Given the description of an element on the screen output the (x, y) to click on. 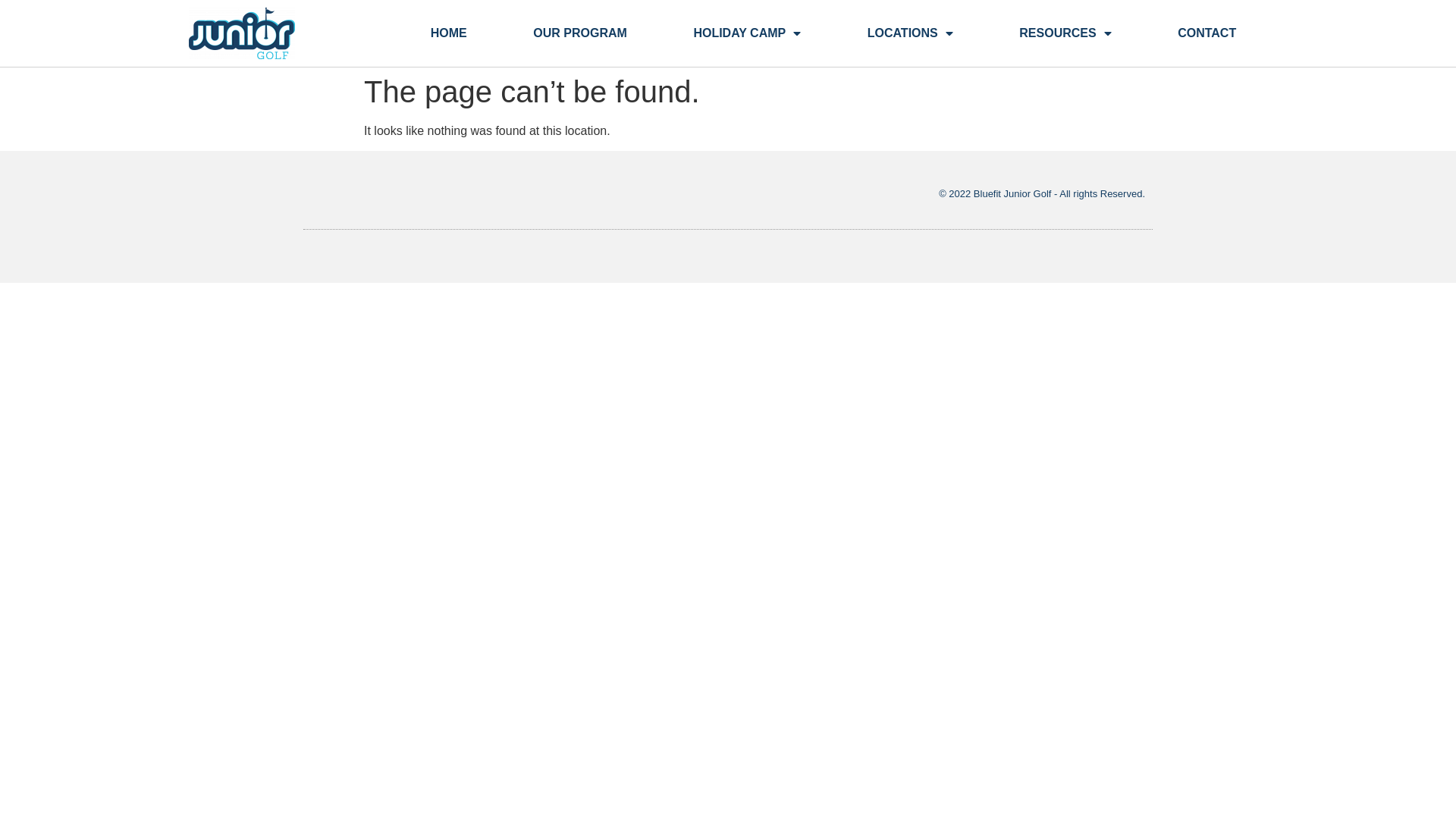
HOLIDAY CAMP Element type: text (746, 33)
CONTACT Element type: text (1206, 33)
LOCATIONS Element type: text (910, 33)
HOME Element type: text (448, 33)
OUR PROGRAM Element type: text (580, 33)
RESOURCES Element type: text (1065, 33)
junior golf logo Element type: hover (241, 33)
